Given the description of an element on the screen output the (x, y) to click on. 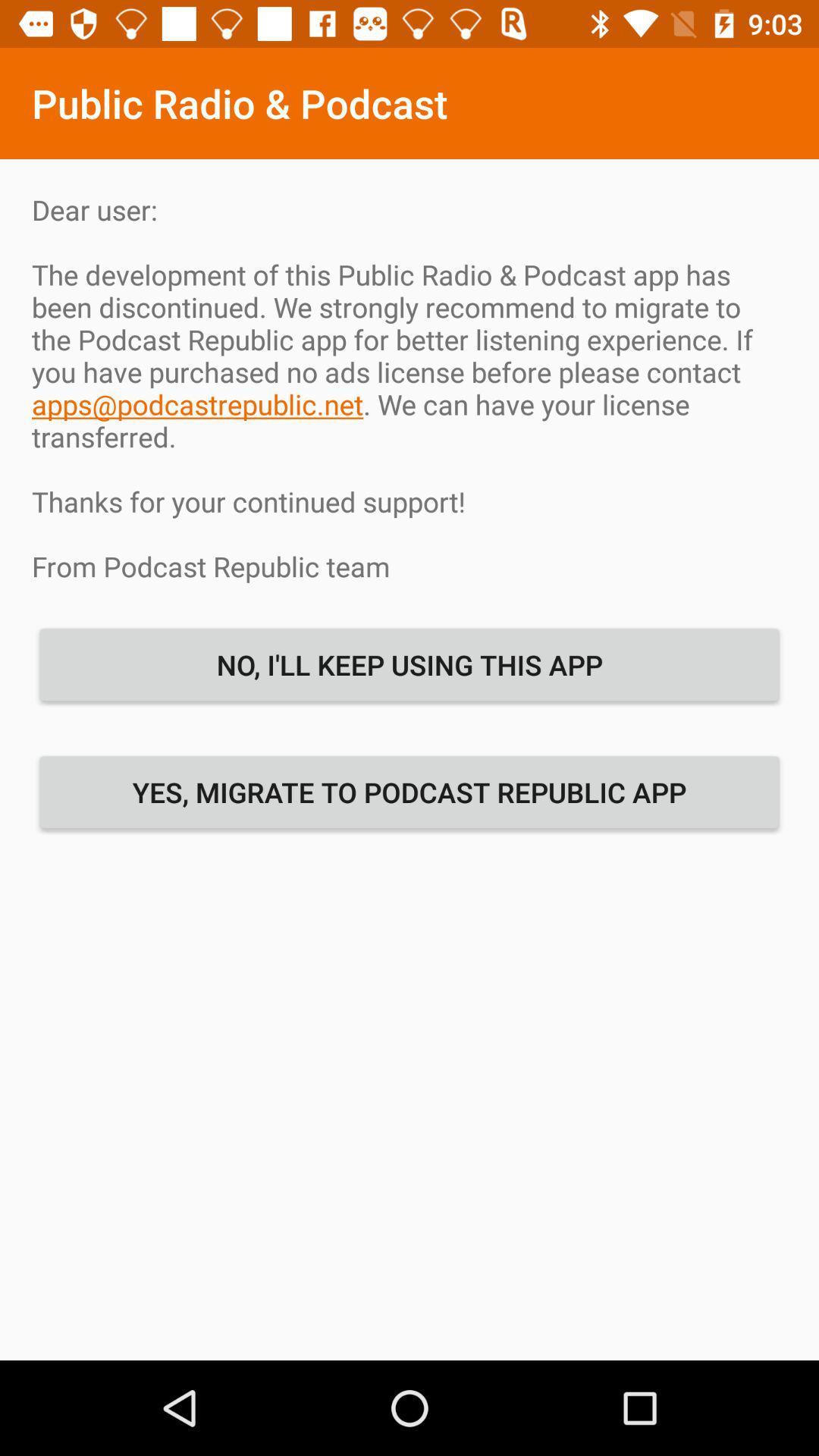
scroll until the dear user the icon (409, 388)
